Given the description of an element on the screen output the (x, y) to click on. 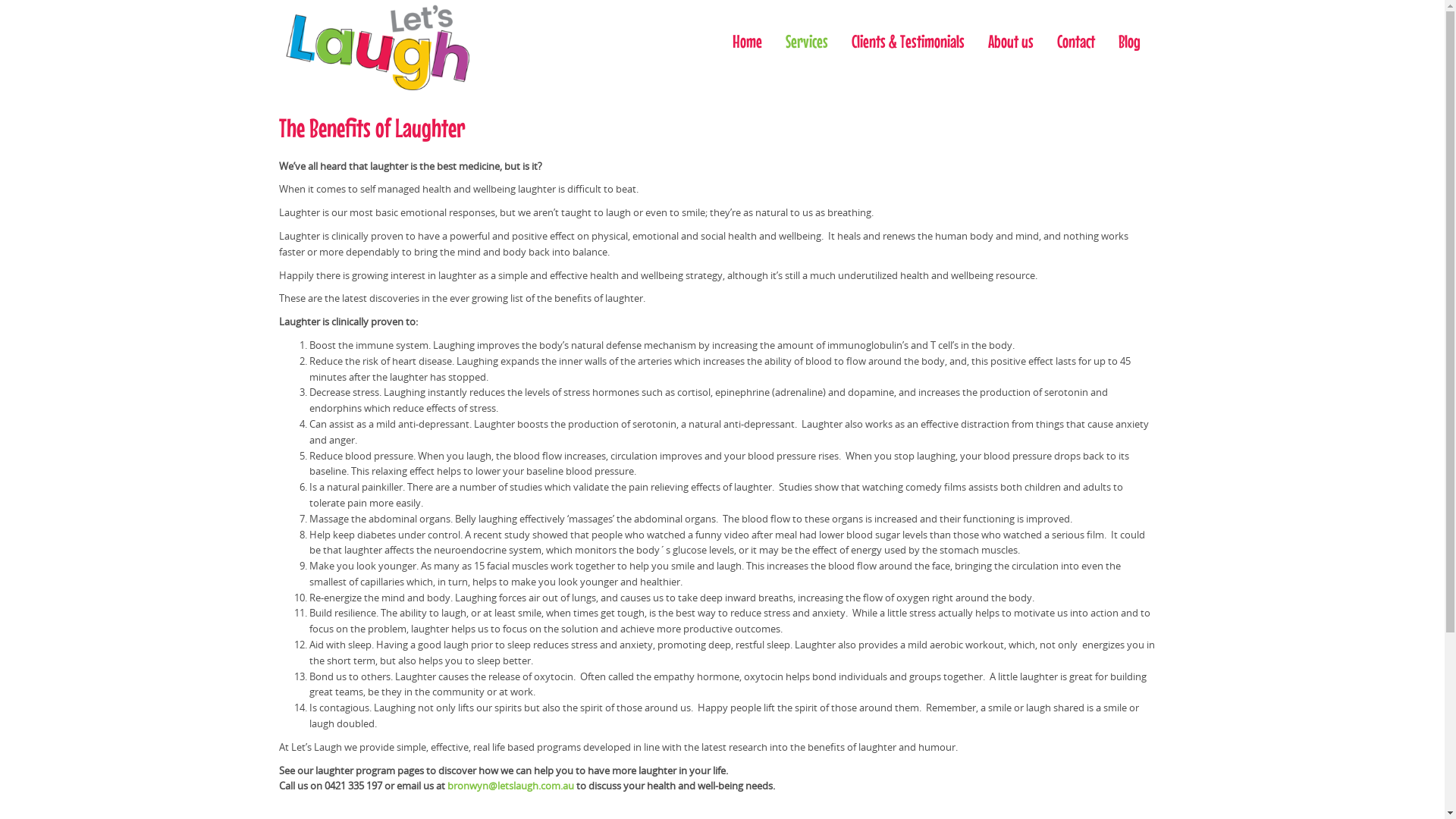
Home Element type: text (746, 41)
Services Element type: text (806, 41)
Contact Element type: text (1075, 41)
About us Element type: text (1010, 41)
Clients & Testimonials Element type: text (907, 41)
Blog Element type: text (1129, 41)
Skip to main content Element type: text (47, 0)
bronwyn@letslaugh.com.au Element type: text (510, 785)
